Given the description of an element on the screen output the (x, y) to click on. 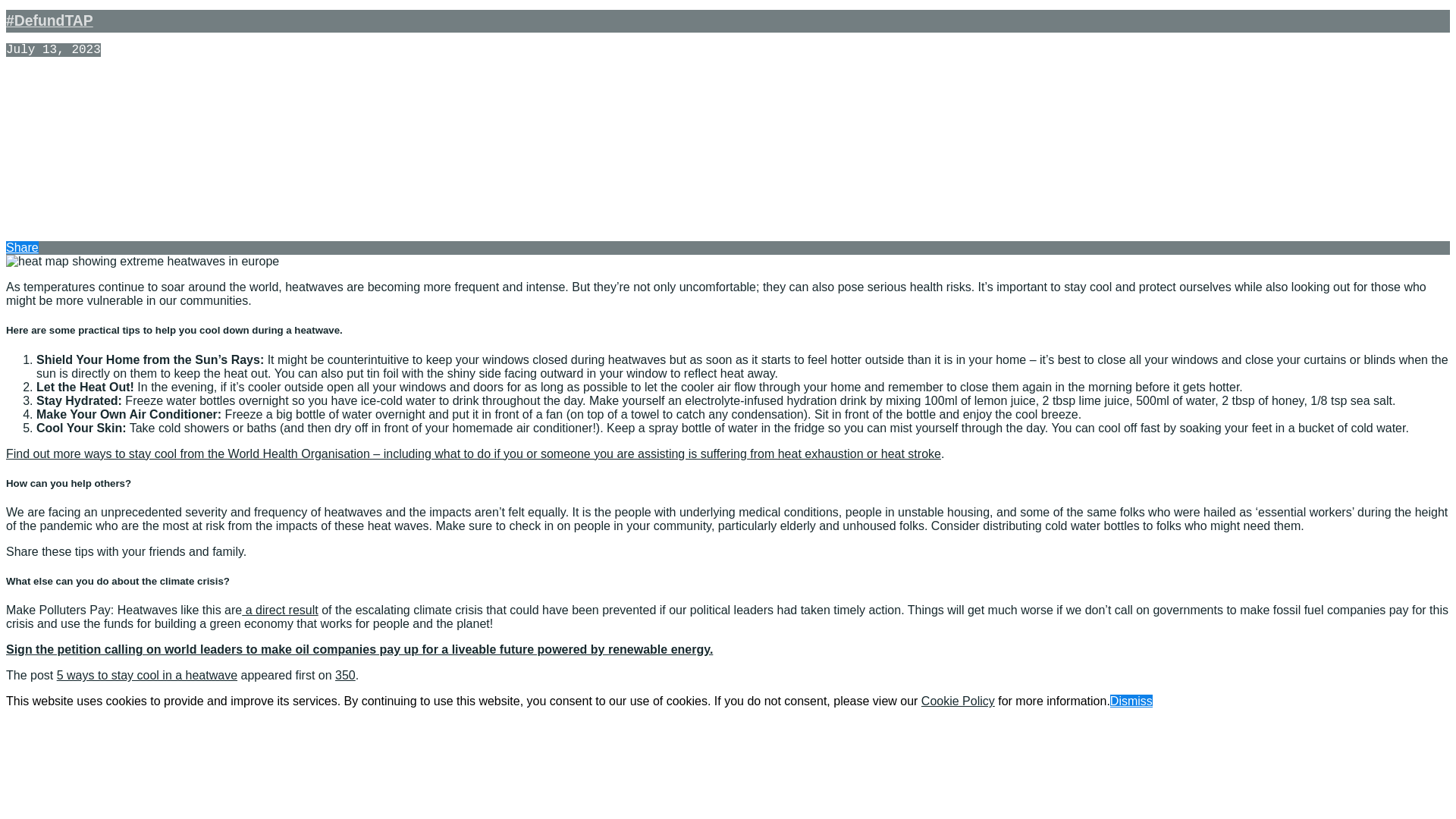
5 ways to stay cool in a heatwave (146, 675)
 a direct result (279, 609)
350 (344, 675)
Share (22, 246)
